Given the description of an element on the screen output the (x, y) to click on. 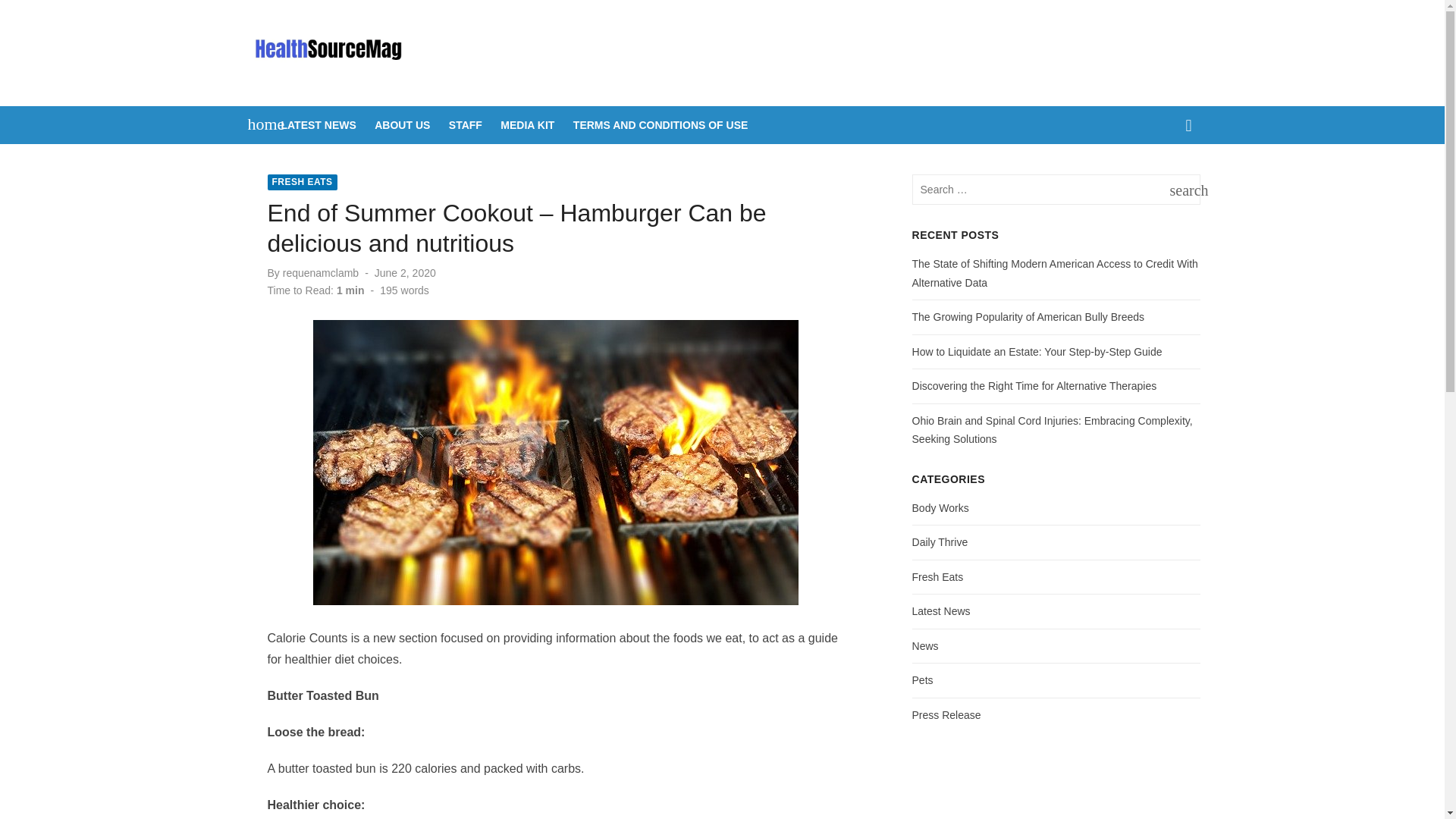
TERMS AND CONDITIONS OF USE (660, 125)
requenamclamb (320, 273)
Body Works (940, 507)
How to Liquidate an Estate: Your Step-by-Step Guide (1036, 351)
Discovering the Right Time for Alternative Therapies (1034, 386)
Latest News (941, 610)
home (258, 123)
MEDIA KIT (527, 125)
The Growing Popularity of American Bully Breeds (1180, 189)
STAFF (1028, 316)
Fresh Eats (464, 125)
LATEST NEWS (937, 576)
Press Release (318, 125)
ABOUT US (946, 714)
